Given the description of an element on the screen output the (x, y) to click on. 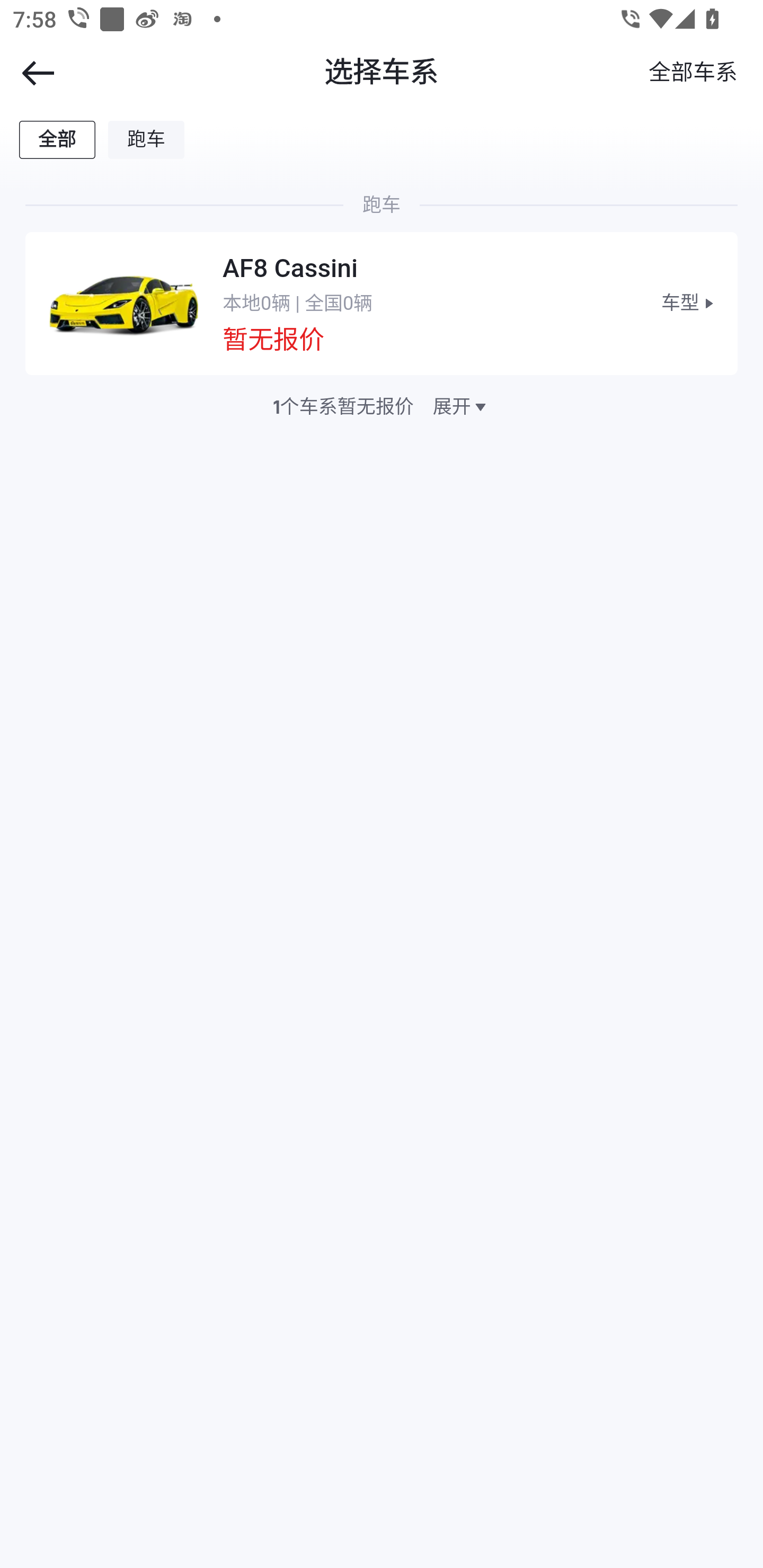
选择品牌 (381, 72)
不限品牌 (692, 73)
全部 (57, 139)
跑车 (147, 139)
车型 (688, 303)
1 个车系暂无报价 展开 (381, 406)
